Given the description of an element on the screen output the (x, y) to click on. 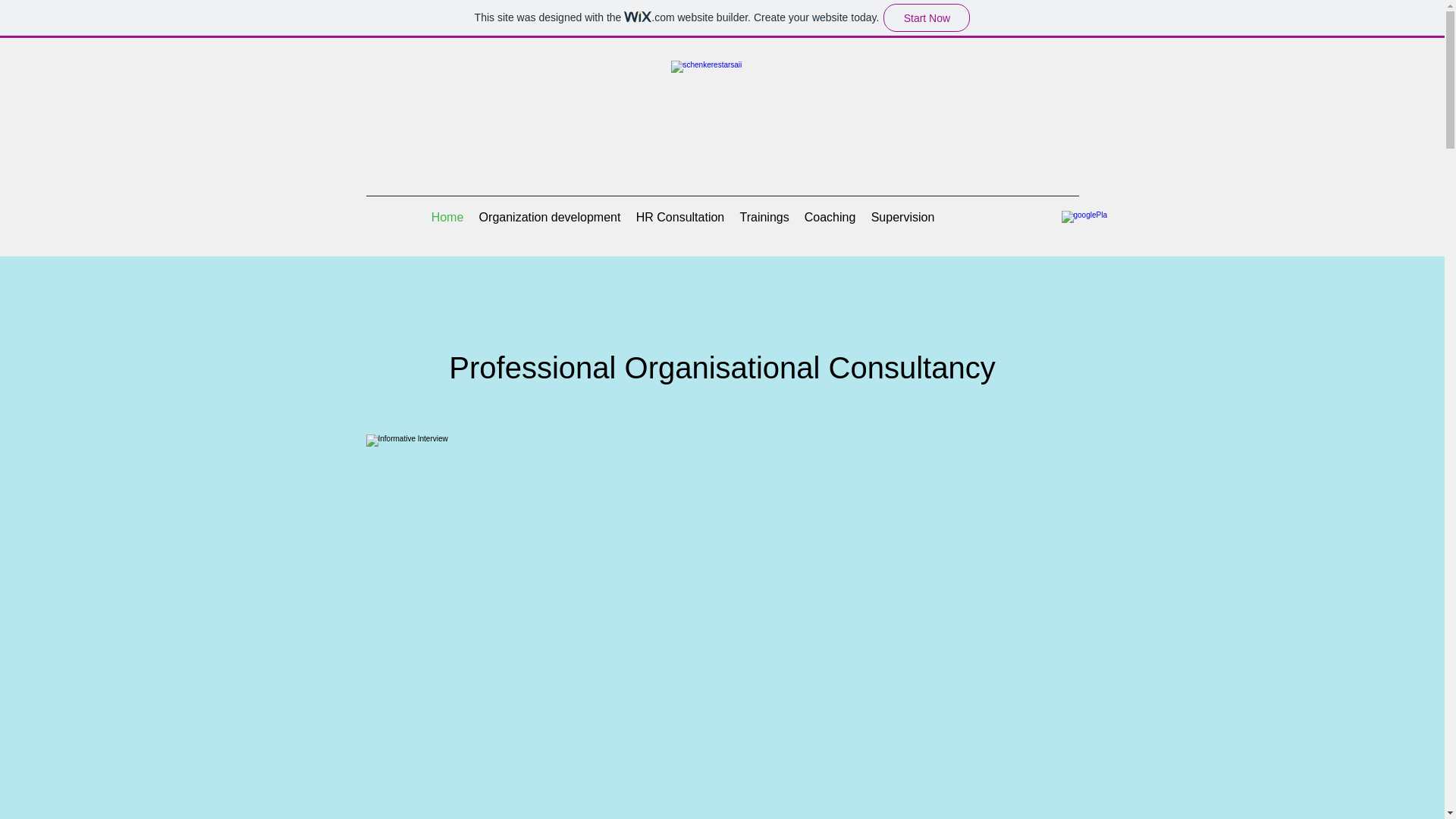
HR Consultation (679, 217)
Trainings (764, 217)
Organization development (549, 217)
Supervision (902, 217)
Coaching (829, 217)
Home (446, 217)
